Given the description of an element on the screen output the (x, y) to click on. 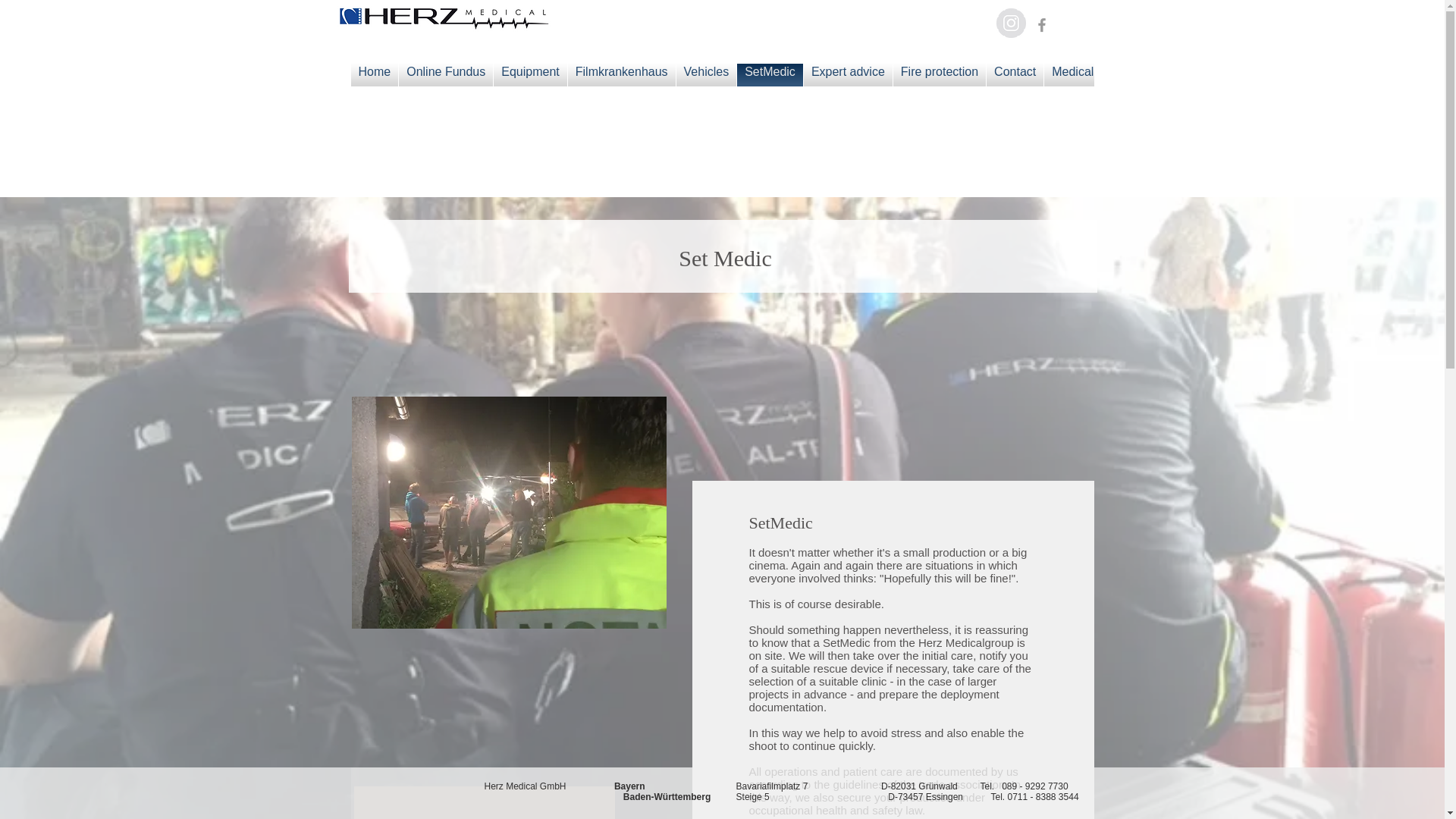
SetMedic (769, 74)
Expert advice (847, 74)
Equipment (530, 74)
Contact (1015, 74)
Filmkrankenhaus (621, 74)
Medical corps (1088, 74)
SetMedic (509, 512)
Fire protection (939, 74)
FullSizeRender 2.jpg (444, 19)
Online Fundus (445, 74)
Vehicles (706, 74)
Home (373, 74)
